Given the description of an element on the screen output the (x, y) to click on. 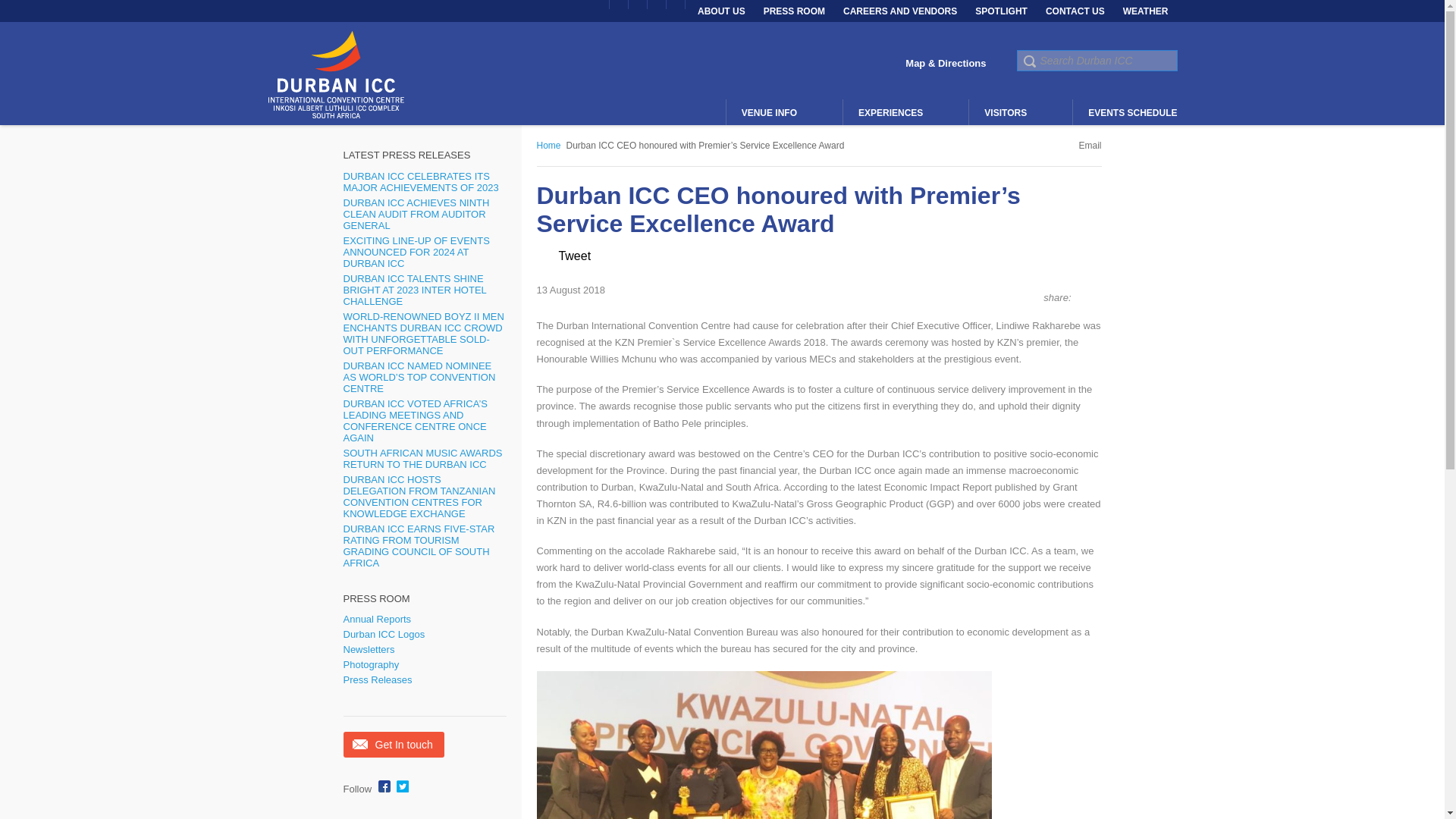
WEATHER (1145, 11)
Search Durban ICC (1096, 60)
PRESS ROOM (794, 11)
SPOTLIGHT (1001, 11)
ABOUT US (721, 11)
CAREERS AND VENDORS (900, 11)
CONTACT US (1074, 11)
Search (1028, 60)
